Given the description of an element on the screen output the (x, y) to click on. 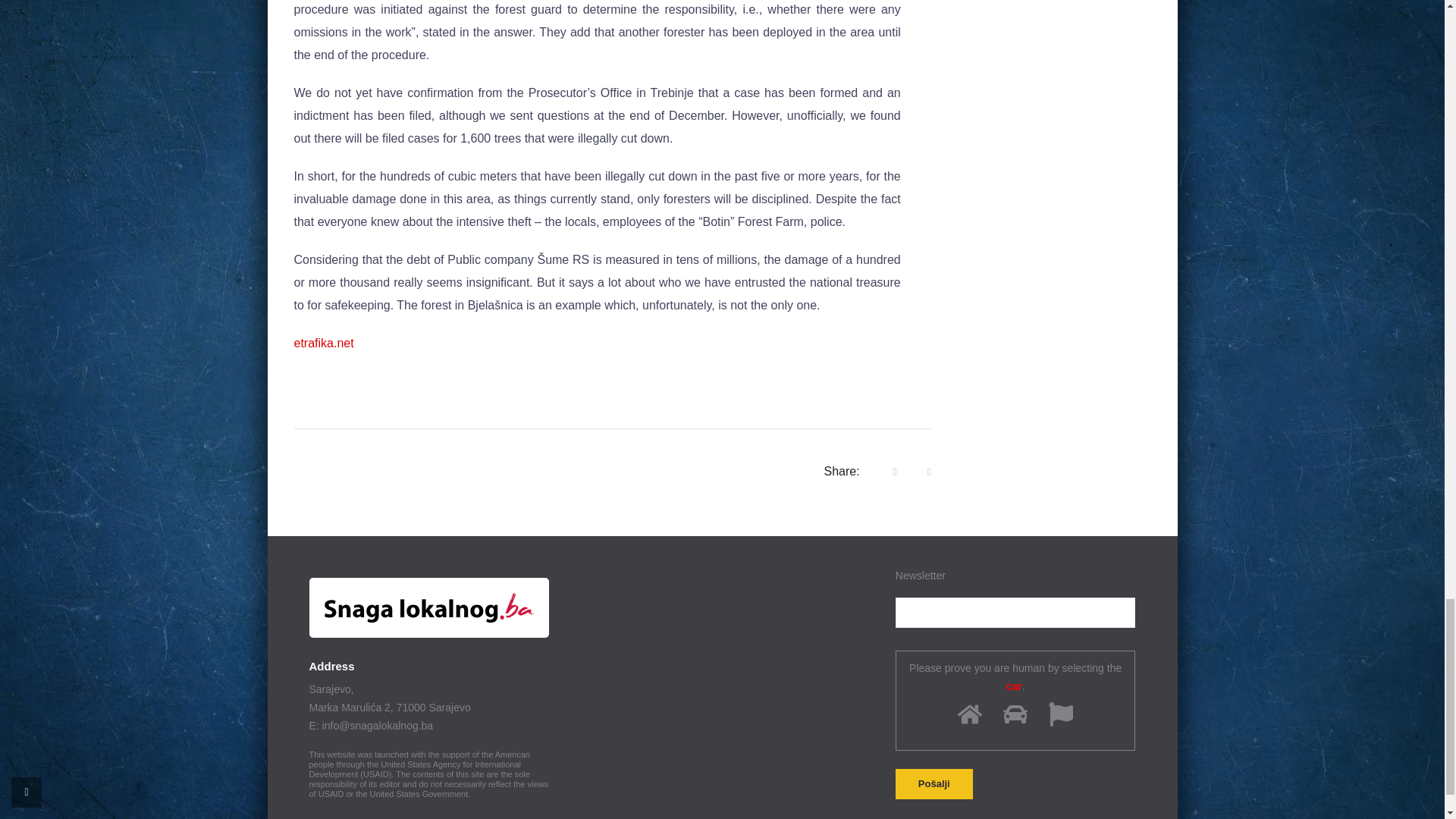
etrafika.net (323, 342)
